Given the description of an element on the screen output the (x, y) to click on. 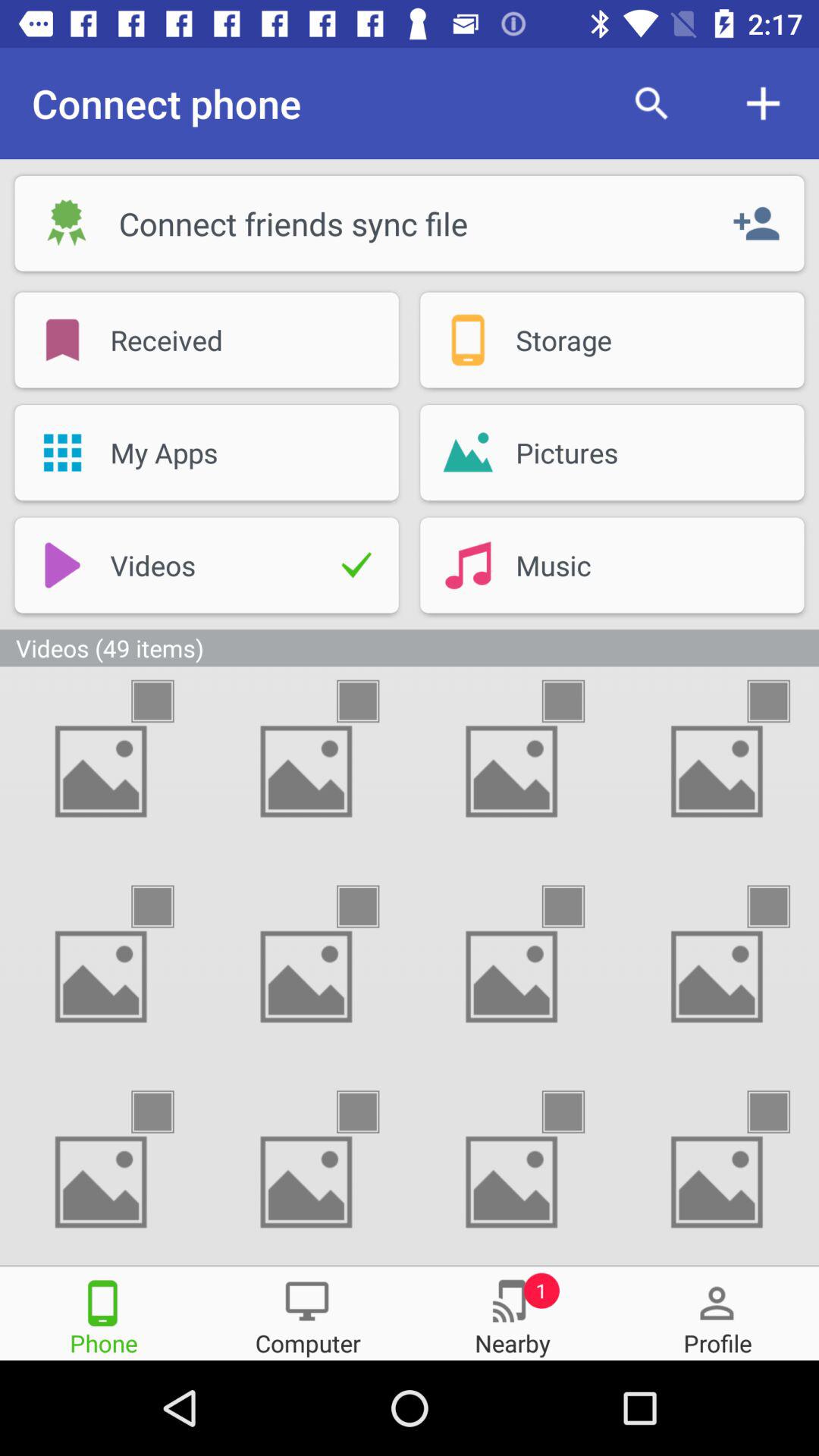
select the videos (782, 700)
